Given the description of an element on the screen output the (x, y) to click on. 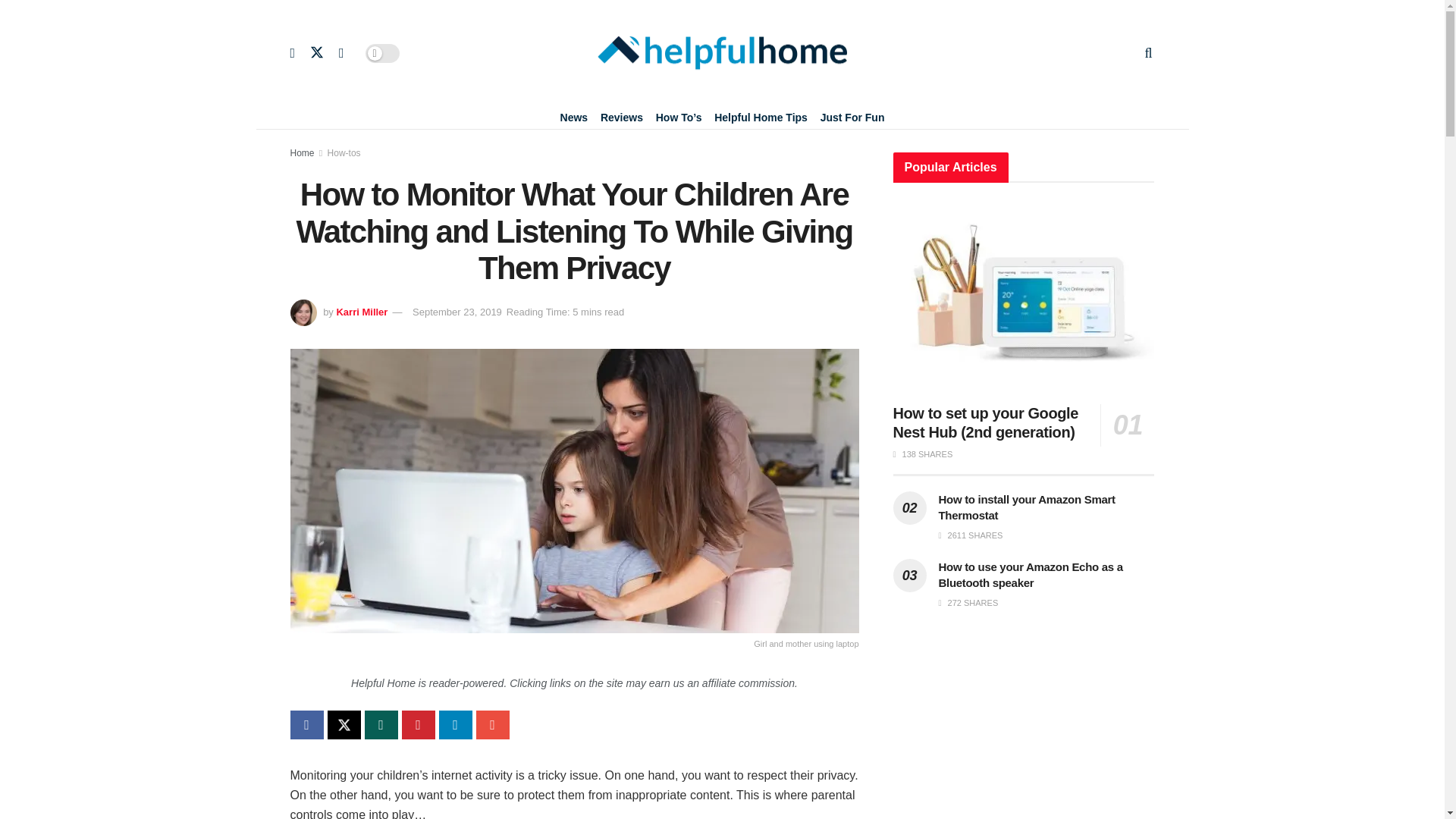
Advertisement (1023, 730)
How-tos (344, 153)
Just For Fun (853, 117)
September 23, 2019 (457, 311)
Karri Miller (361, 311)
Reviews (621, 117)
Helpful Home Tips (761, 117)
News (574, 117)
Home (301, 153)
